Given the description of an element on the screen output the (x, y) to click on. 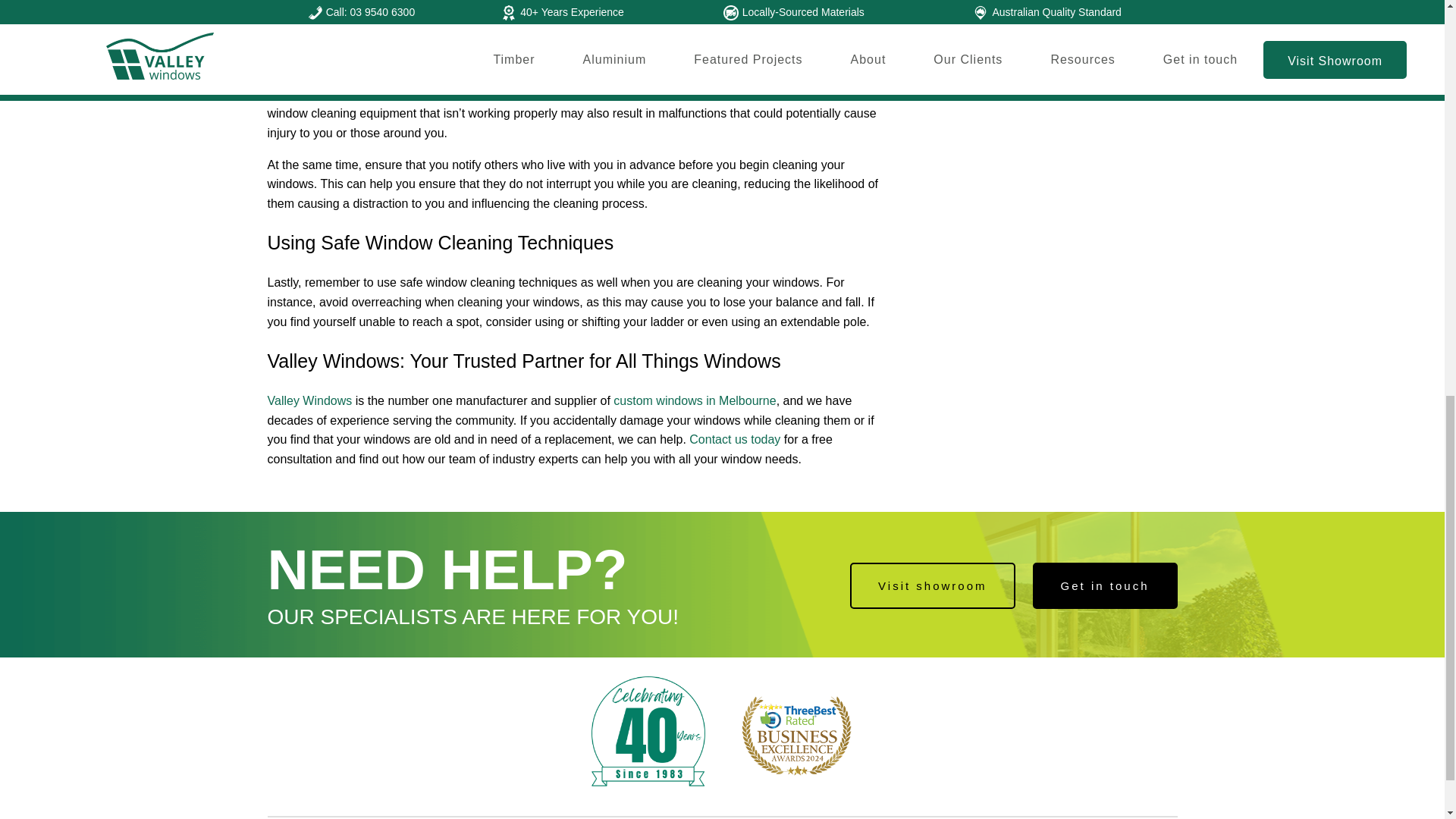
Visit showroom (932, 585)
Contact us today (734, 439)
custom windows in Melbourne (694, 400)
Valley Windows (309, 400)
